Given the description of an element on the screen output the (x, y) to click on. 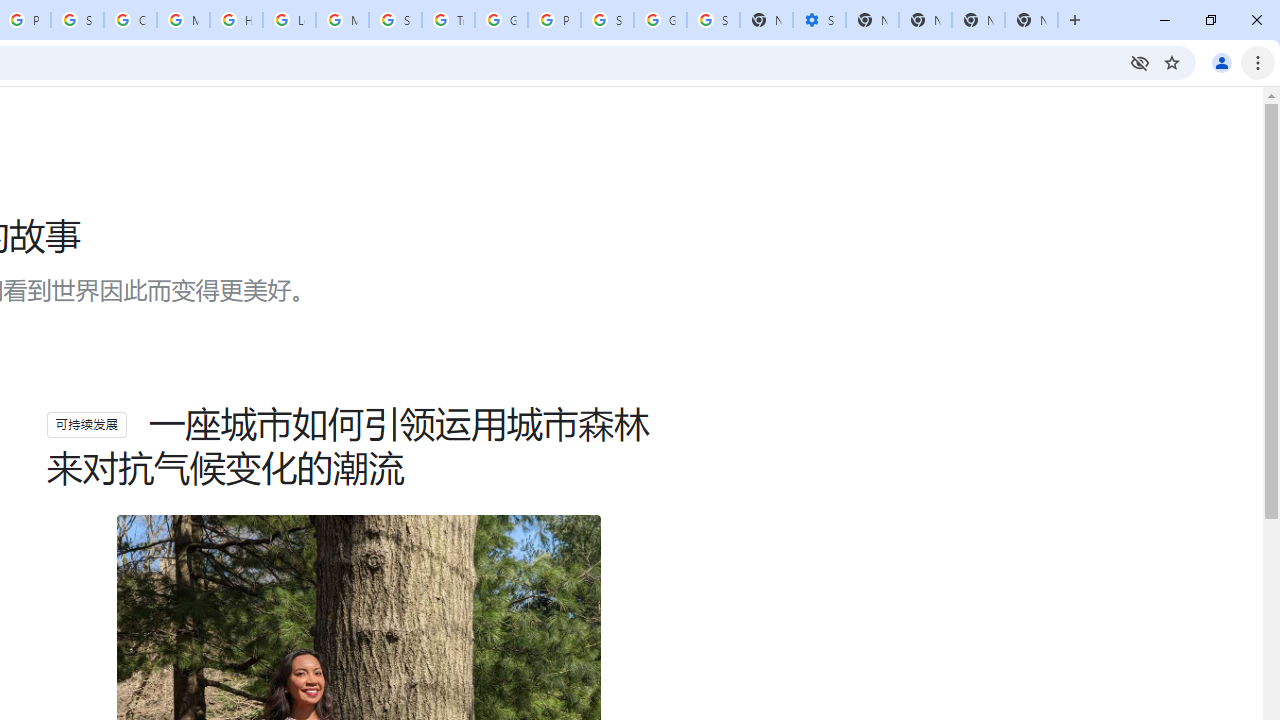
Google Ads - Sign in (501, 20)
Search our Doodle Library Collection - Google Doodles (395, 20)
Google Cybersecurity Innovations - Google Safety Center (660, 20)
Trusted Information and Content - Google Safety Center (448, 20)
Sign in - Google Accounts (713, 20)
Sign in - Google Accounts (607, 20)
